Given the description of an element on the screen output the (x, y) to click on. 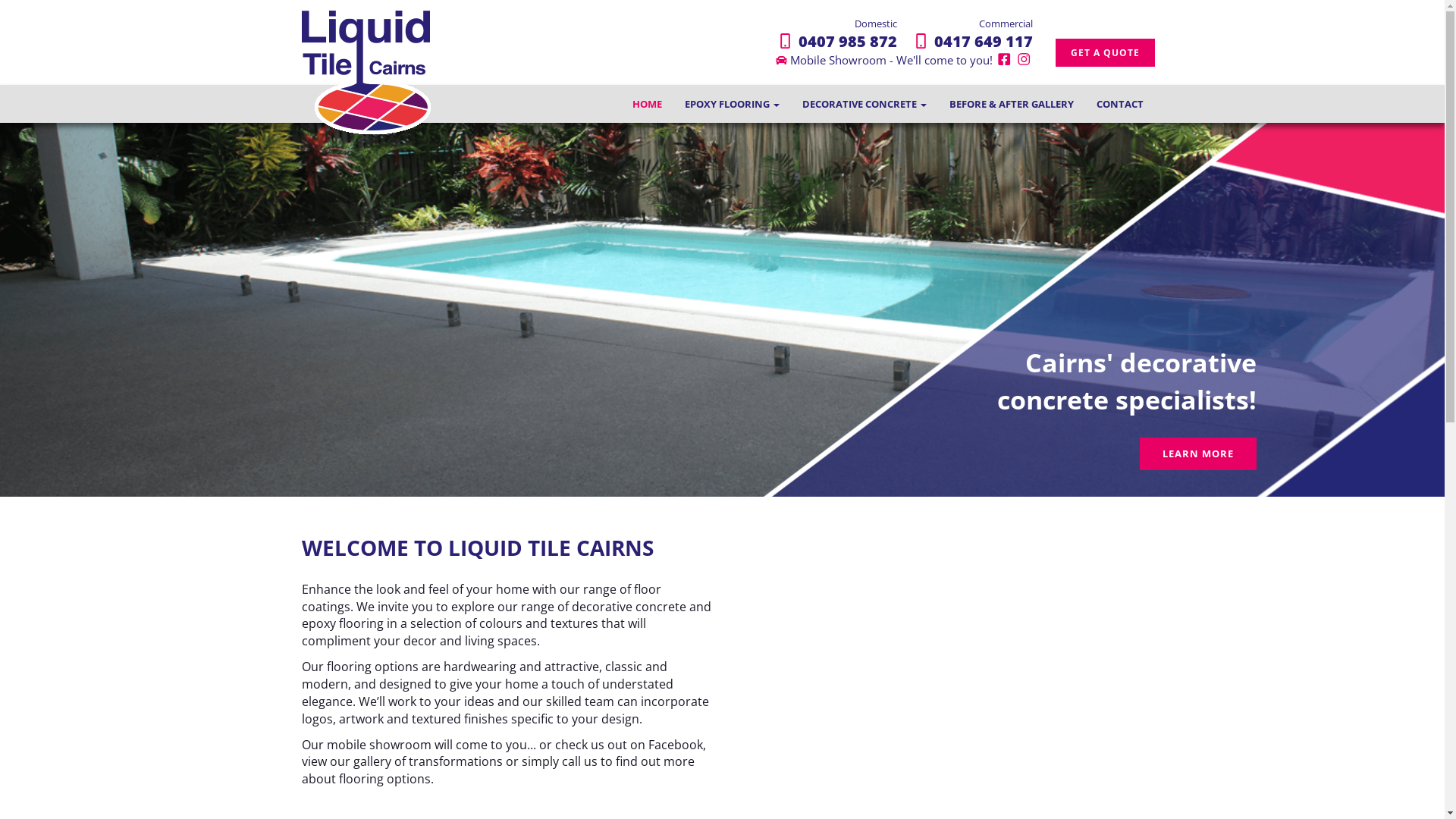
EPOXY FLOORING Element type: text (731, 103)
BEFORE & AFTER GALLERY Element type: text (1010, 103)
LEARN MORE Element type: text (1197, 453)
0417 649 117 Element type: text (965, 41)
CONTACT Element type: text (1119, 103)
GET A QUOTE Element type: text (1104, 52)
0407 985 872 Element type: text (830, 41)
HOME Element type: text (646, 103)
DECORATIVE CONCRETE Element type: text (863, 103)
